Given the description of an element on the screen output the (x, y) to click on. 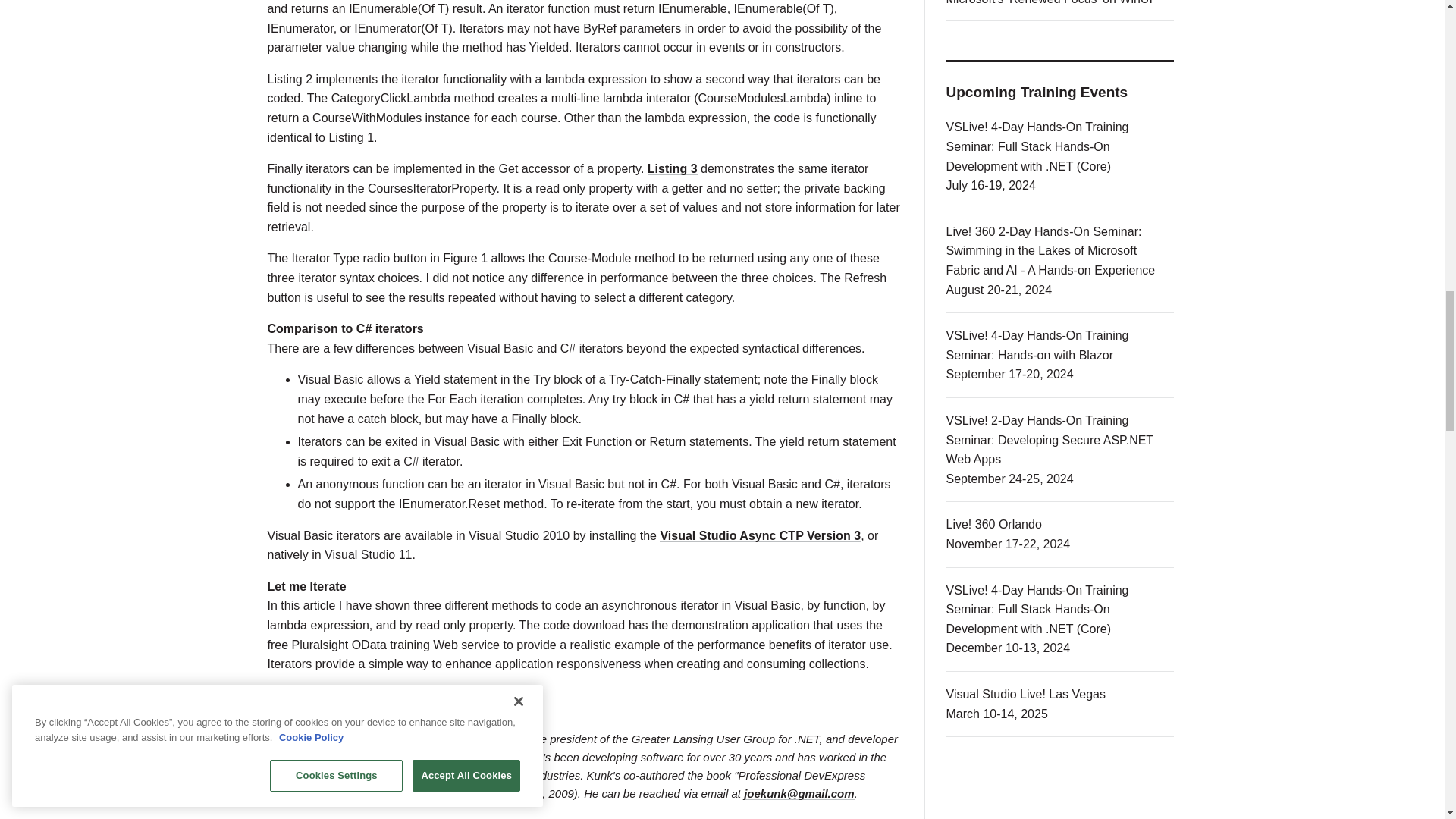
3rd party ad content (1059, 796)
